Given the description of an element on the screen output the (x, y) to click on. 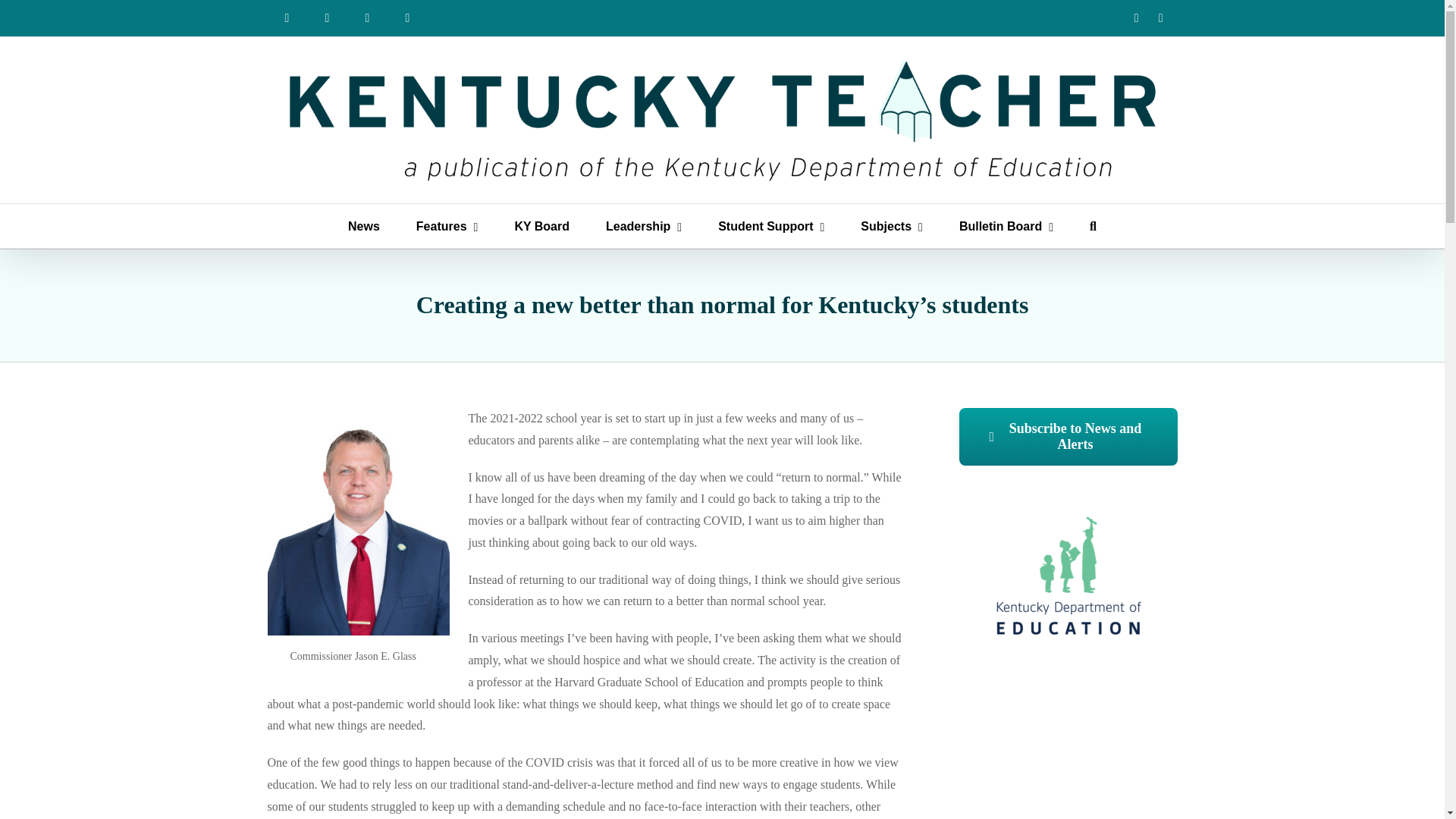
Leadership (643, 225)
About (327, 18)
Bulletin Board (1005, 225)
Student Support (770, 225)
Features (447, 225)
Subjects (891, 225)
Contact (408, 18)
KY Board (541, 225)
Home (285, 18)
Staff (367, 18)
